Given the description of an element on the screen output the (x, y) to click on. 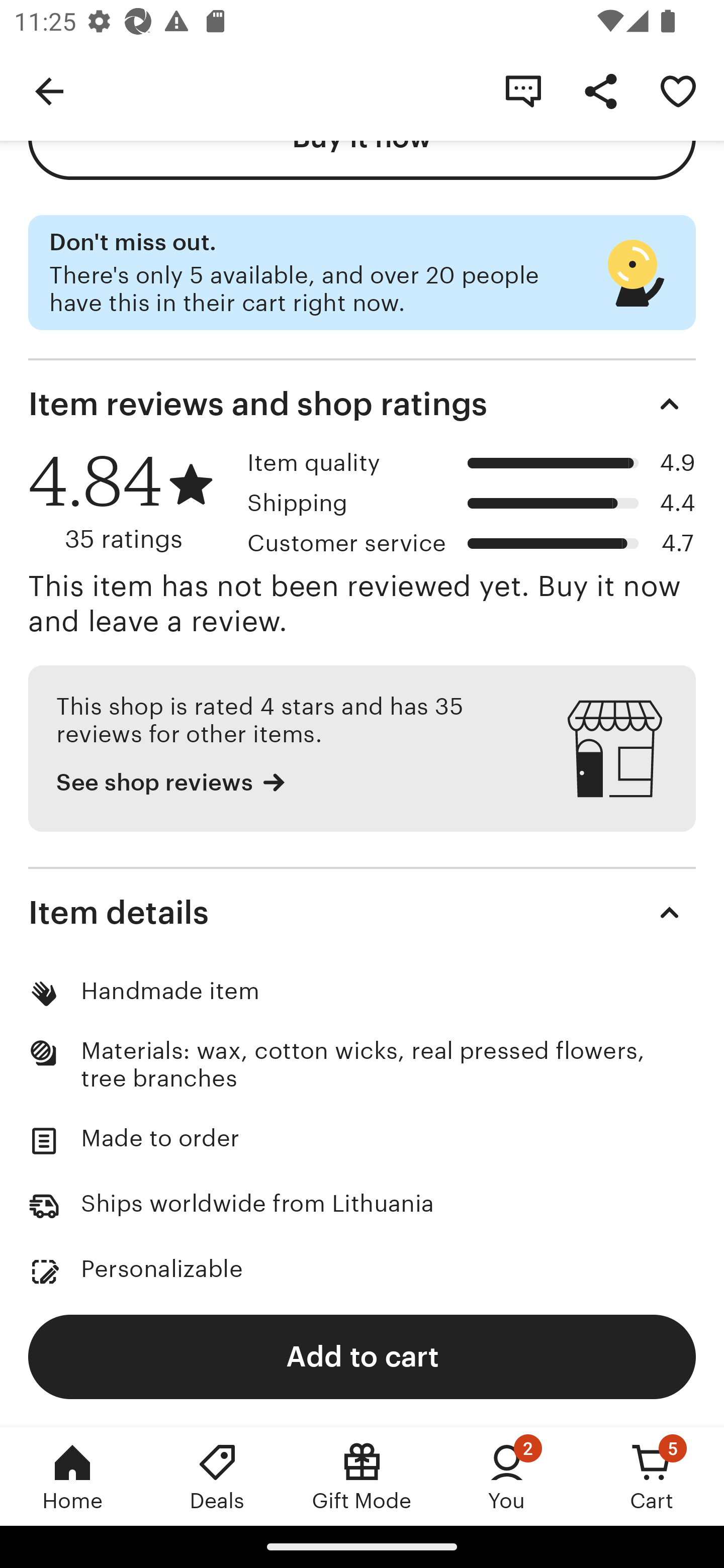
Navigate up (49, 90)
Contact shop (523, 90)
Share (600, 90)
Item reviews and shop ratings (362, 404)
4.84 35 ratings (130, 501)
Item details (362, 912)
Add to cart (361, 1355)
Deals (216, 1475)
Gift Mode (361, 1475)
You, 2 new notifications You (506, 1475)
Cart, 5 new notifications Cart (651, 1475)
